Given the description of an element on the screen output the (x, y) to click on. 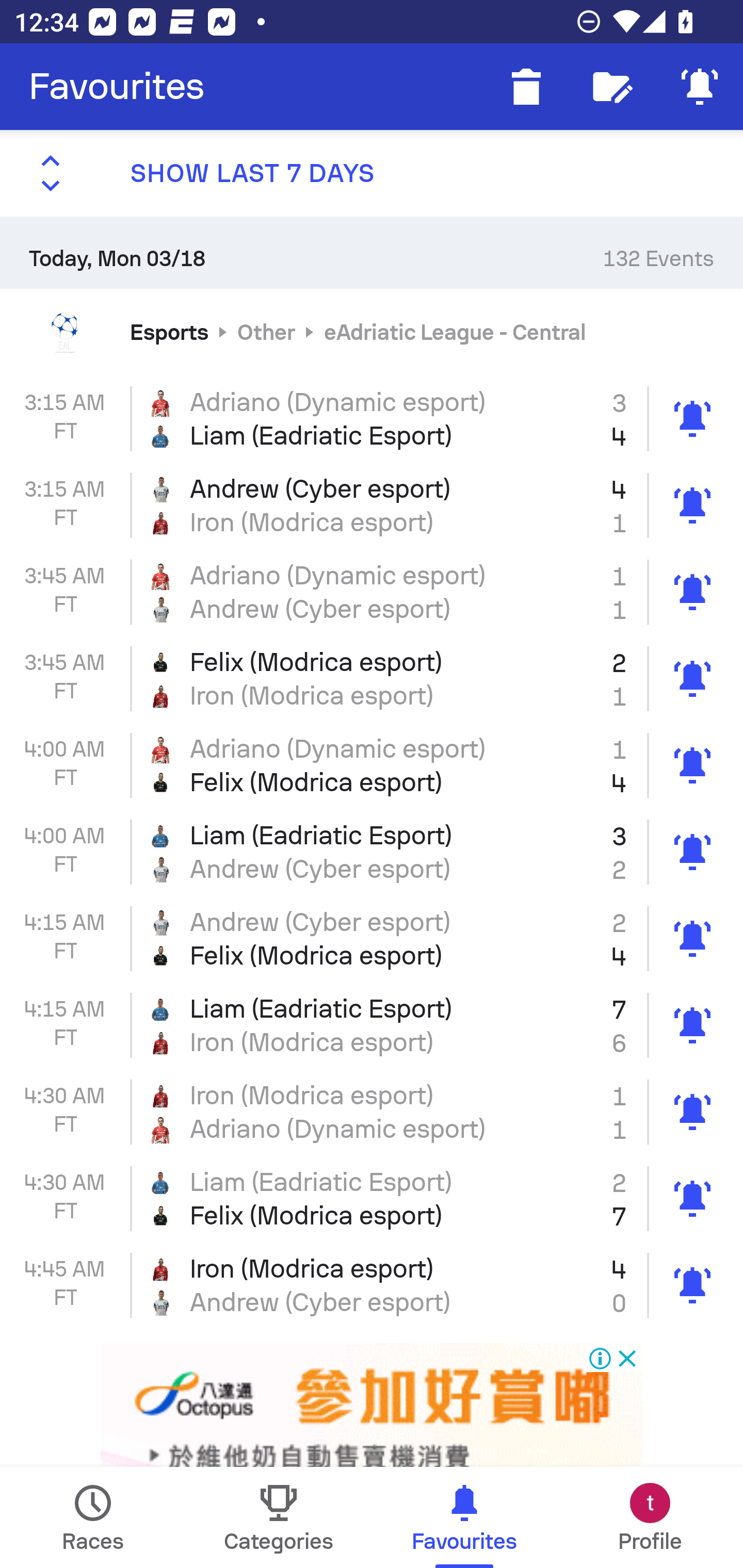
Favourites (116, 86)
Delete finished (525, 86)
Follow editor (612, 86)
Mute Notifications (699, 86)
SHOW LAST 7 DAYS (371, 173)
Today, Mon 03/18 132 Events (371, 252)
Esports Other eAdriatic League - Central (371, 331)
Advertisement (371, 1405)
Races (92, 1517)
Categories (278, 1517)
Profile (650, 1517)
